Given the description of an element on the screen output the (x, y) to click on. 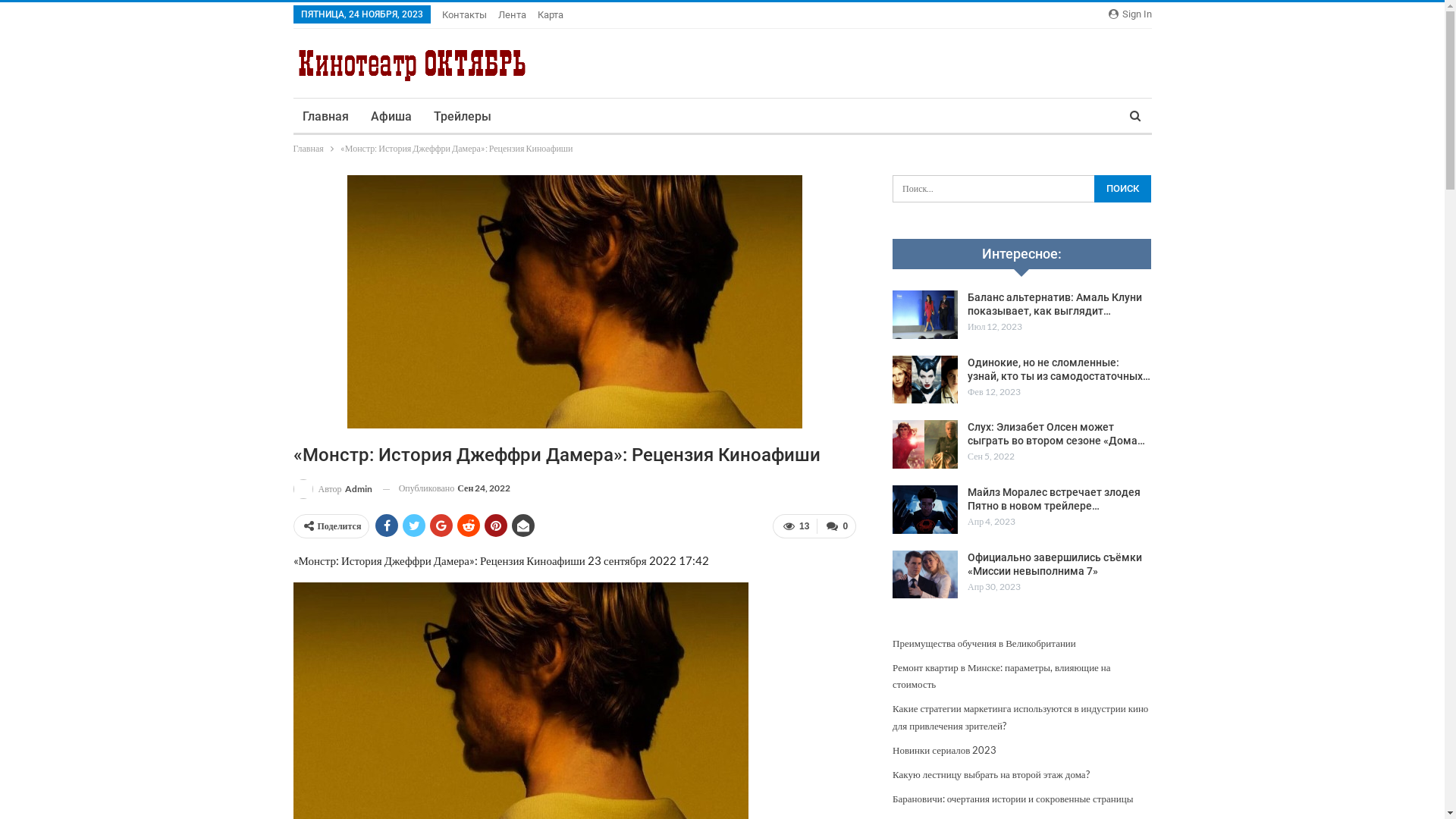
Sign In Element type: text (1129, 14)
0 Element type: text (836, 526)
